Given the description of an element on the screen output the (x, y) to click on. 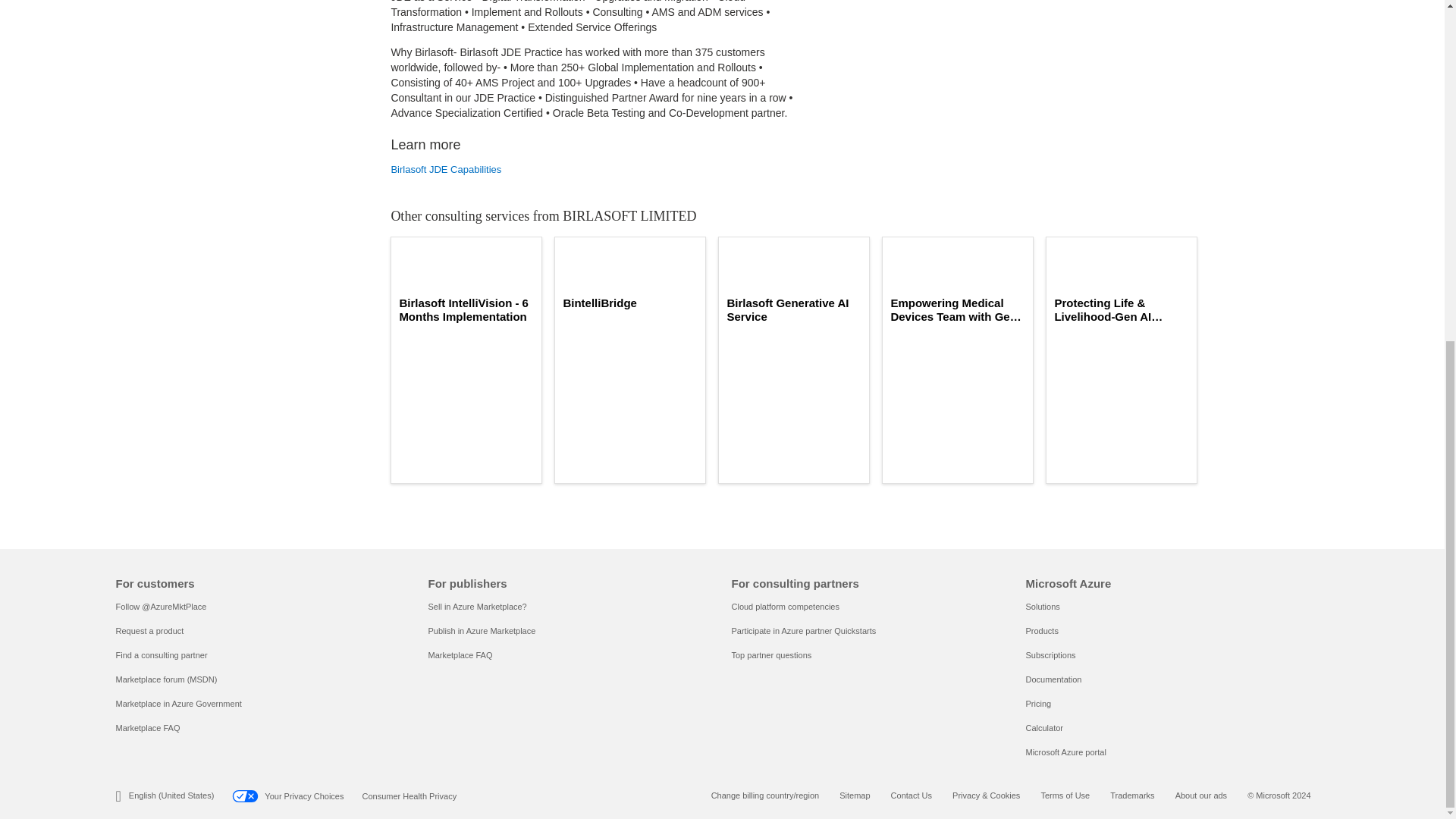
Birlasoft JDE Capabilities (600, 169)
Birlasoft Generative AI Service (793, 309)
BintelliBridge (629, 303)
Empowering Medical Devices Team with Gen AI - 4 Weeks PoC (957, 309)
Birlasoft IntelliVision - 6 Months Implementation (466, 309)
Request a product (149, 630)
